Given the description of an element on the screen output the (x, y) to click on. 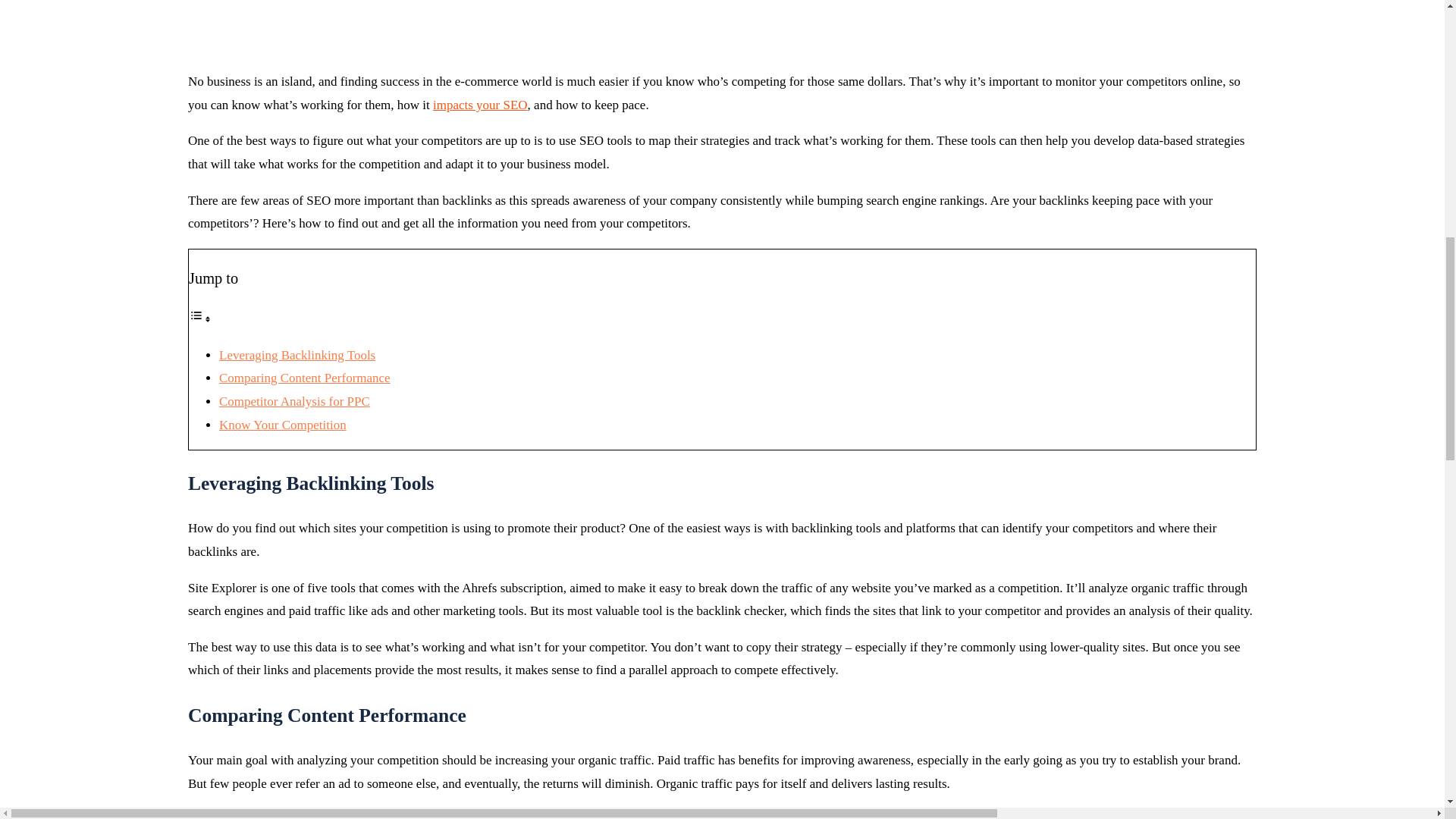
Comparing Content Performance (304, 377)
impacts your SEO (479, 104)
Know Your Competition (282, 424)
Comparing Content Performance (304, 377)
Leveraging Backlinking Tools (297, 355)
Competitor Analysis for PPC (294, 400)
Leveraging Backlinking Tools (297, 355)
